Given the description of an element on the screen output the (x, y) to click on. 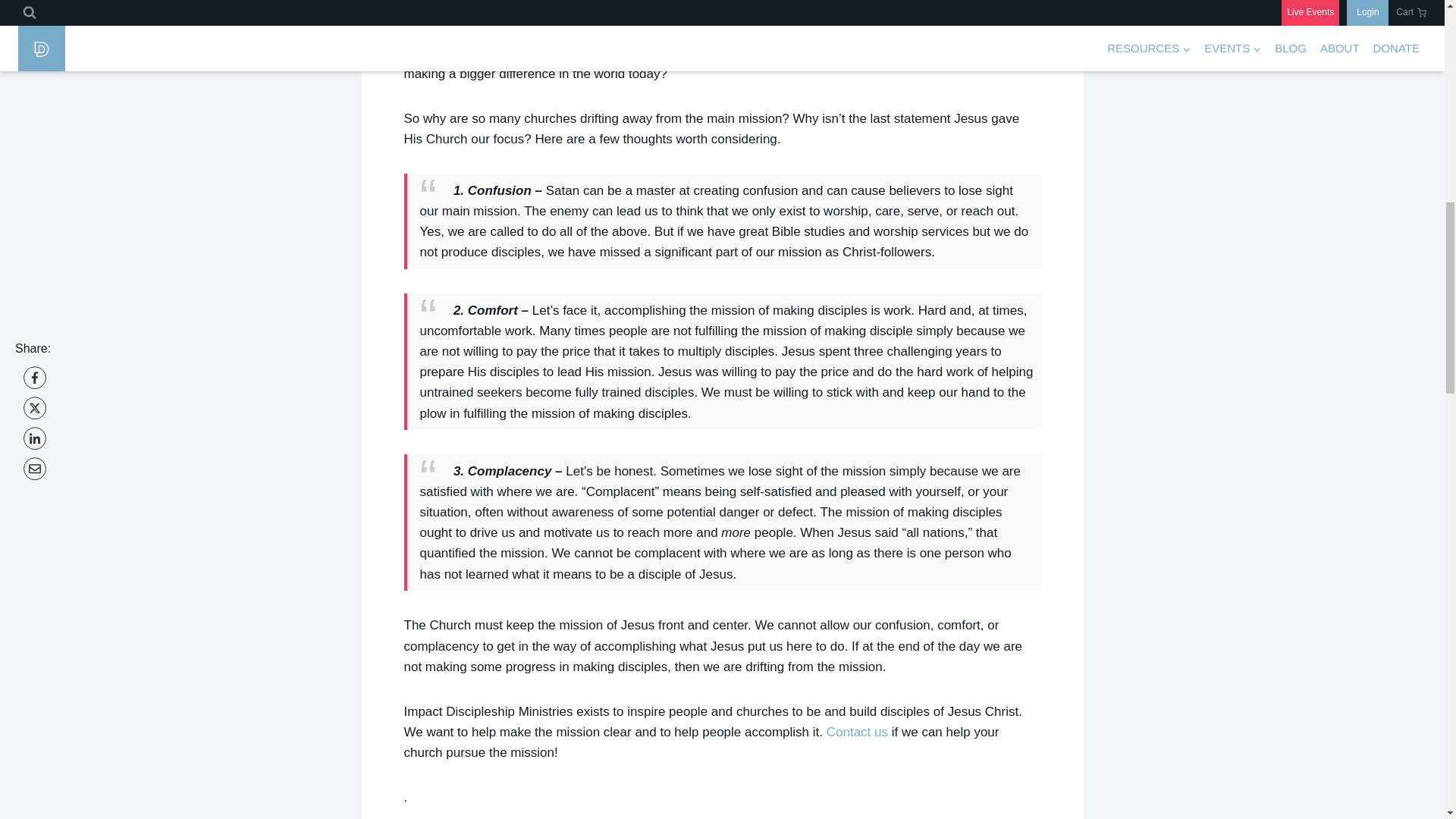
Contact us (857, 731)
